Given the description of an element on the screen output the (x, y) to click on. 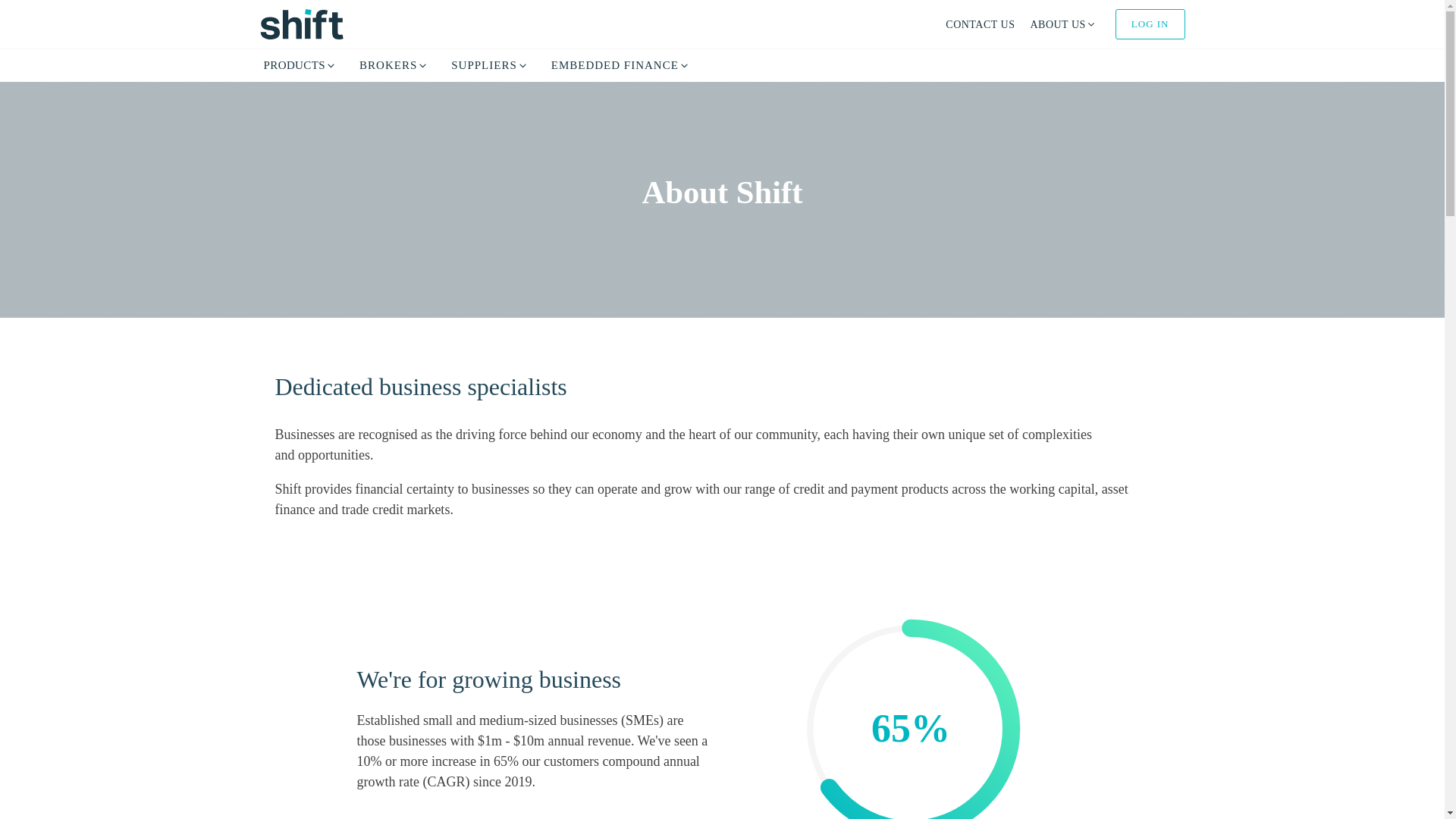
SUPPLIERS (489, 65)
LOG IN (1150, 24)
ABOUT US (1062, 24)
EMBEDDED FINANCE (620, 65)
BROKERS (393, 65)
CONTACT US (979, 24)
PRODUCTS (299, 65)
